Given the description of an element on the screen output the (x, y) to click on. 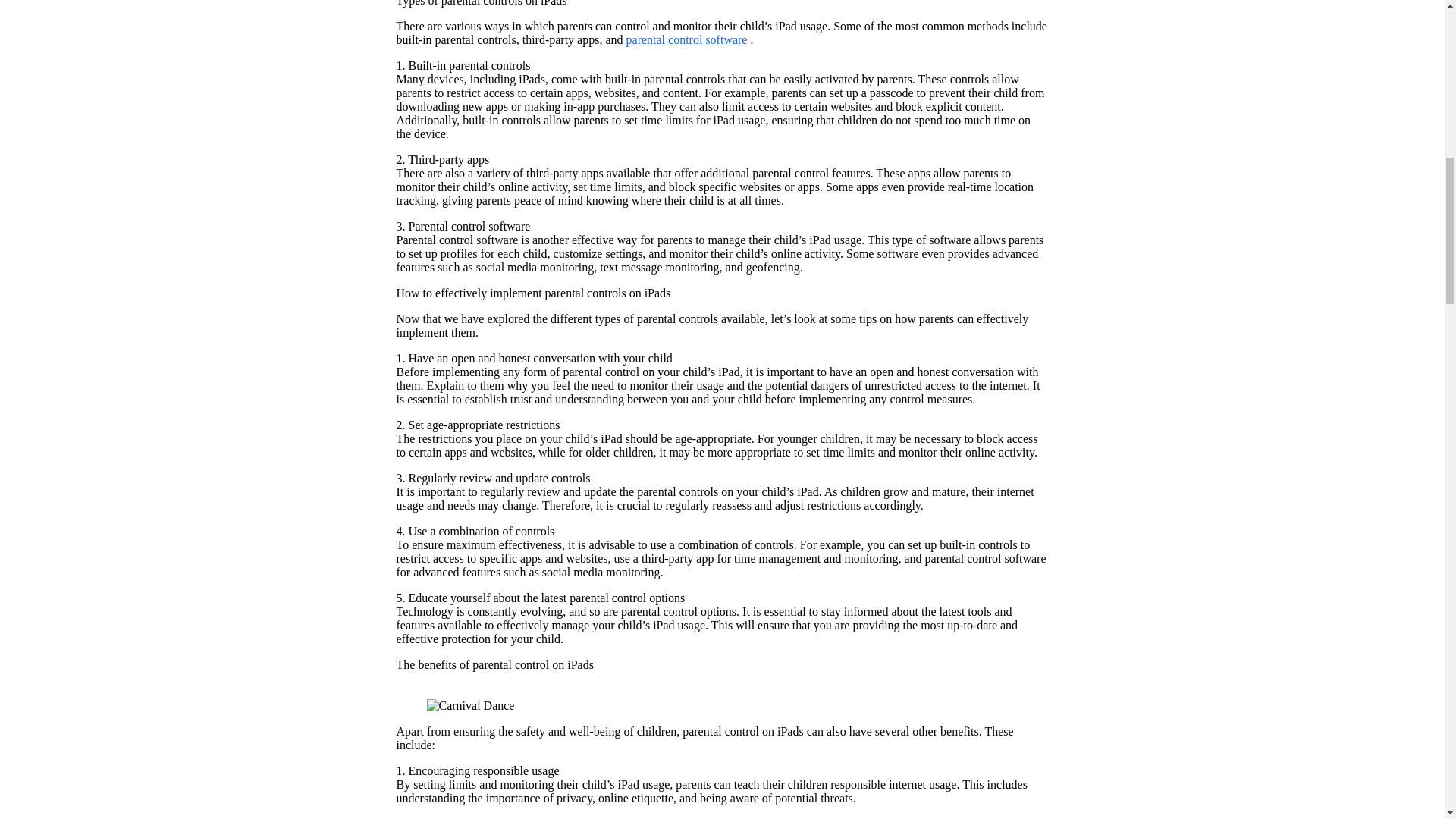
parental control software (687, 39)
Carnival Dance (469, 705)
